Given the description of an element on the screen output the (x, y) to click on. 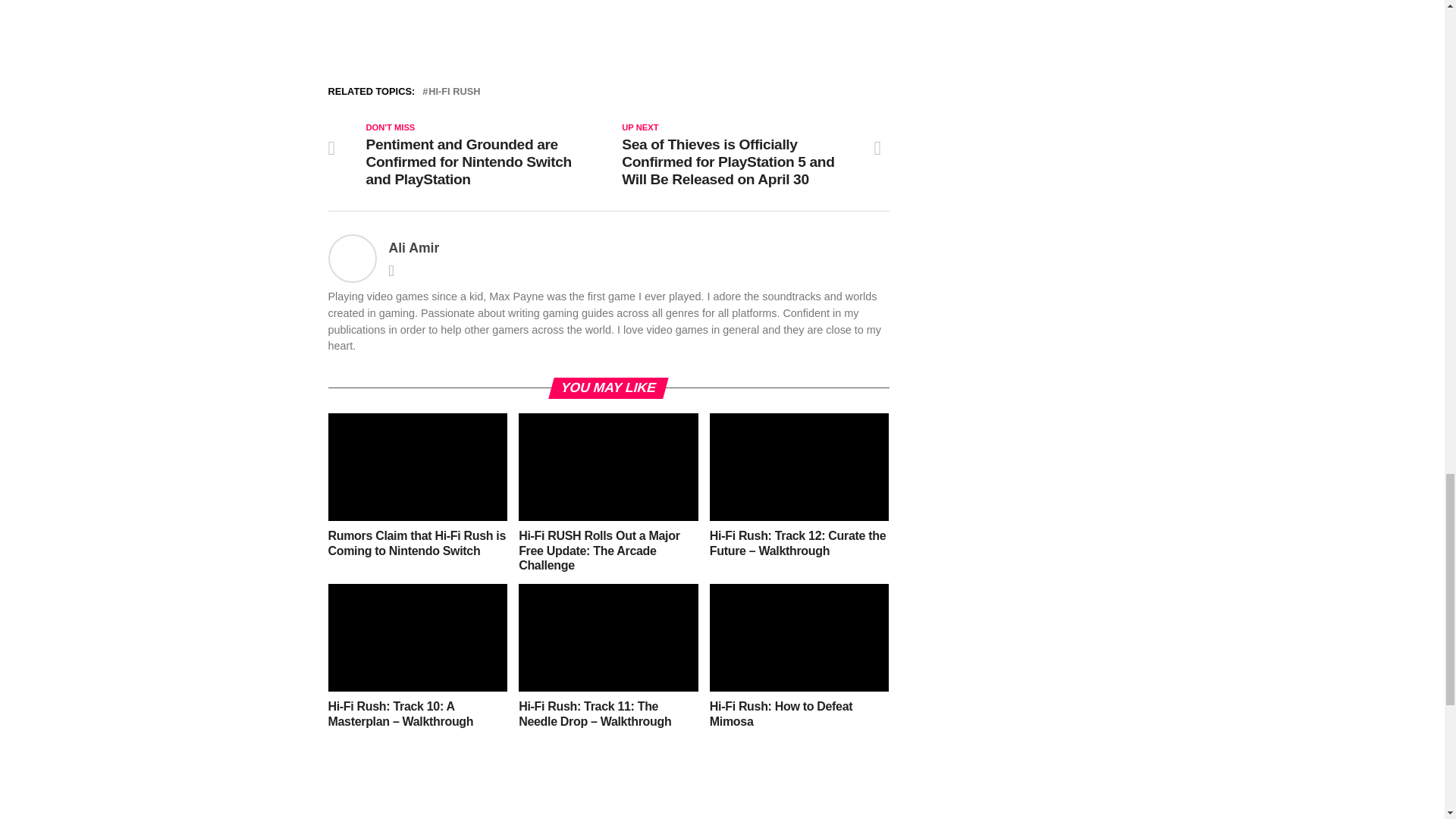
Posts by Ali Amir (413, 247)
